Given the description of an element on the screen output the (x, y) to click on. 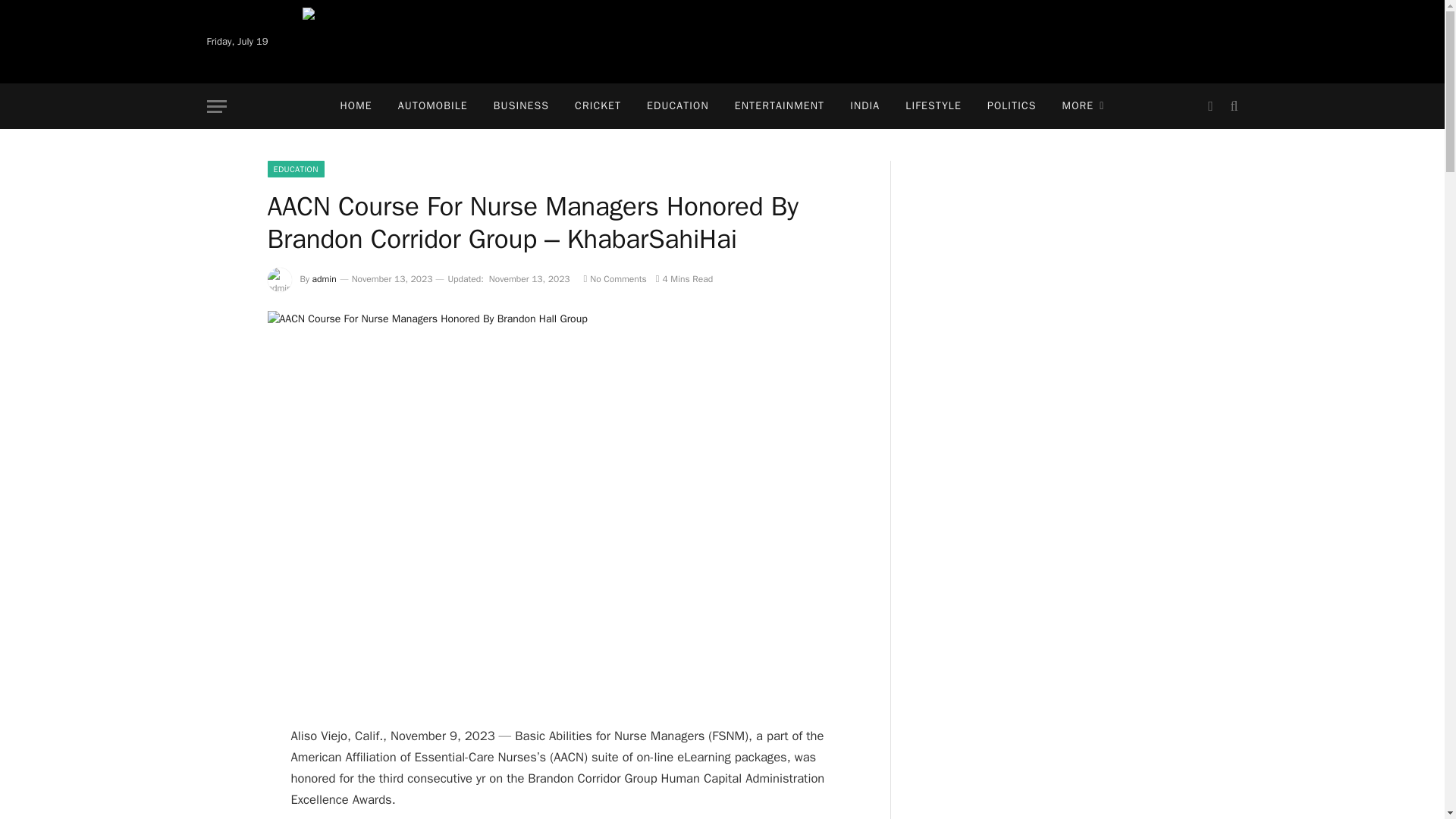
admin (324, 278)
AUTOMOBILE (432, 105)
MORE (1083, 105)
LIFESTYLE (933, 105)
EDUCATION (677, 105)
INDIA (864, 105)
ENTERTAINMENT (779, 105)
Posts by admin (324, 278)
Switch to Dark Design - easier on eyes. (1209, 106)
No Comments (614, 278)
EDUCATION (294, 168)
HOME (356, 105)
BUSINESS (521, 105)
CRICKET (597, 105)
POLITICS (1011, 105)
